Given the description of an element on the screen output the (x, y) to click on. 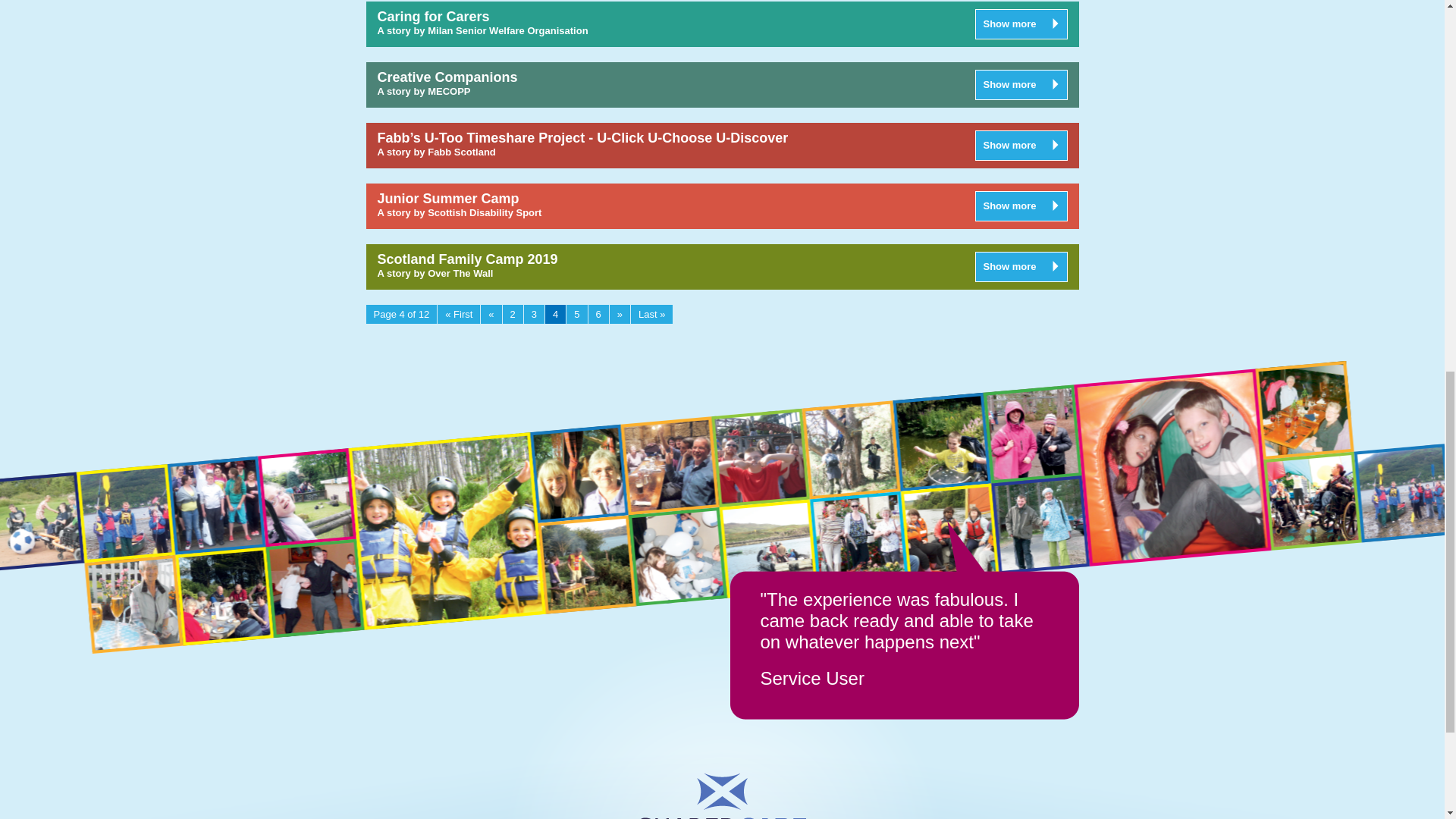
Page 5 (576, 313)
Page 3 (534, 313)
Page 6 (598, 313)
Page 2 (512, 313)
